Given the description of an element on the screen output the (x, y) to click on. 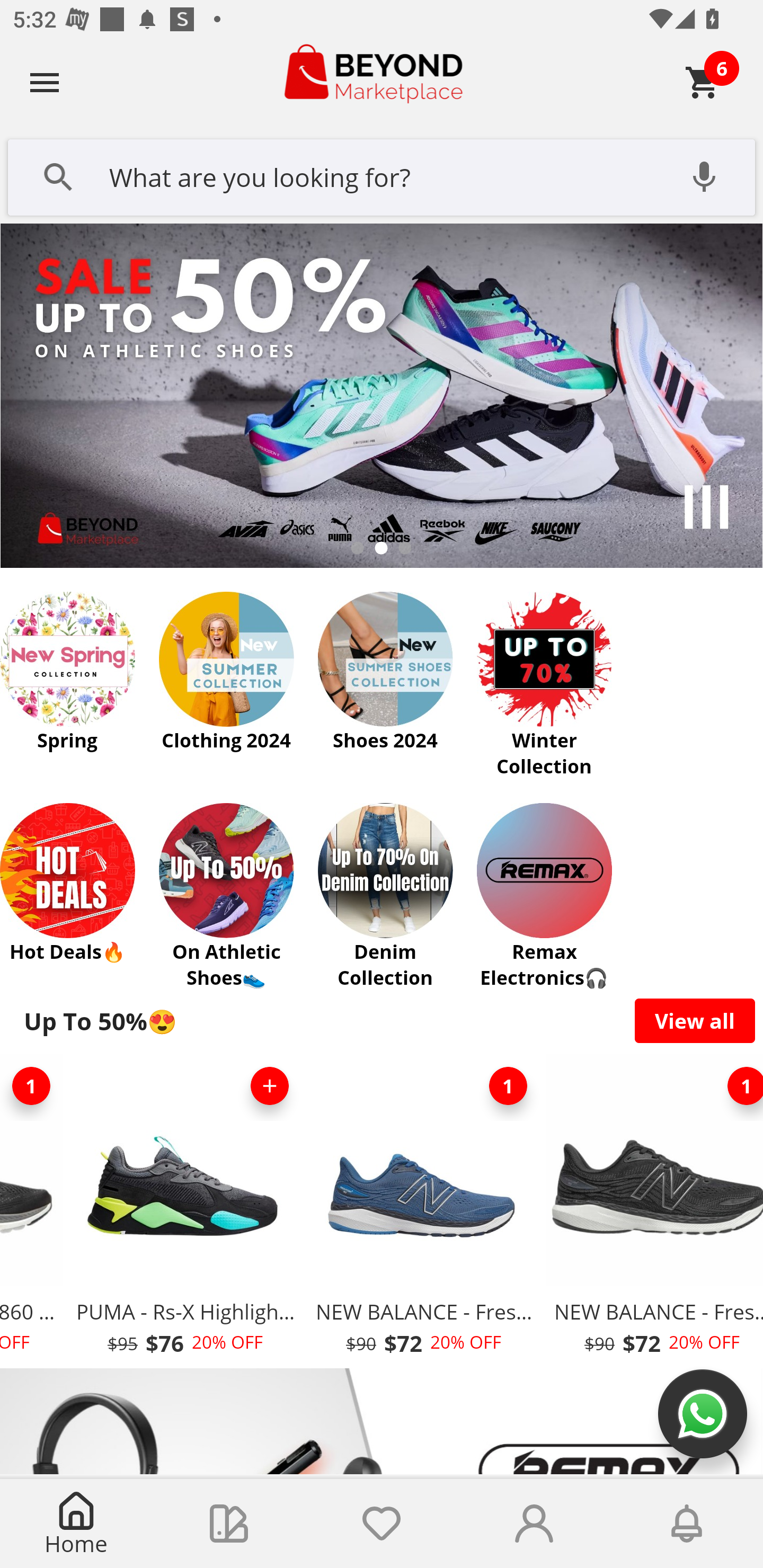
Navigate up (44, 82)
What are you looking for? (381, 175)
View all (694, 1020)
1 (508, 1085)
1 (737, 1085)
Collections (228, 1523)
Wishlist (381, 1523)
Account (533, 1523)
Notifications (686, 1523)
